Given the description of an element on the screen output the (x, y) to click on. 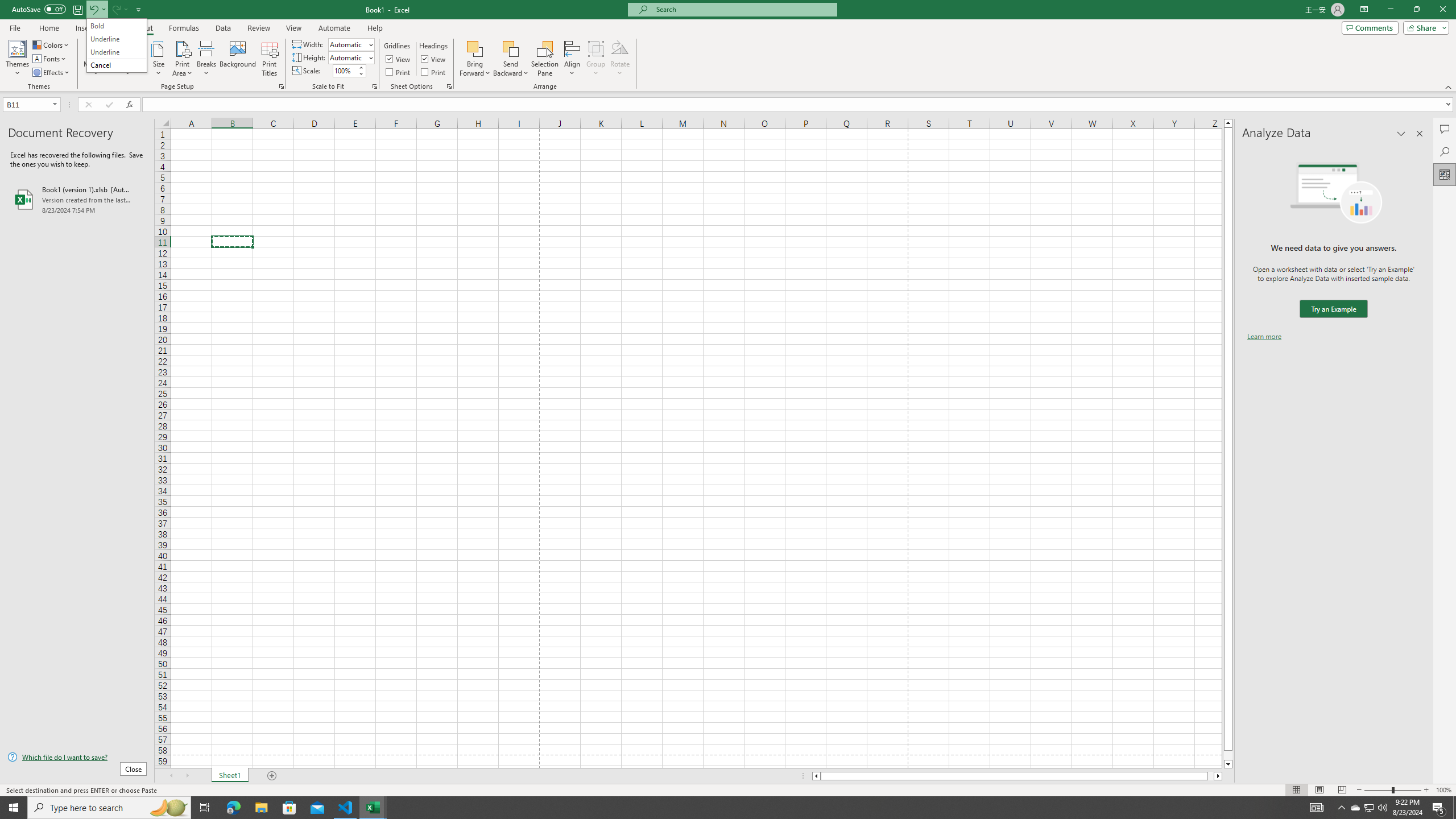
Print Titles (269, 58)
Background... (237, 58)
Group (595, 58)
Bring Forward (475, 58)
Width (350, 44)
Scale (344, 70)
Bring Forward (475, 48)
